Given the description of an element on the screen output the (x, y) to click on. 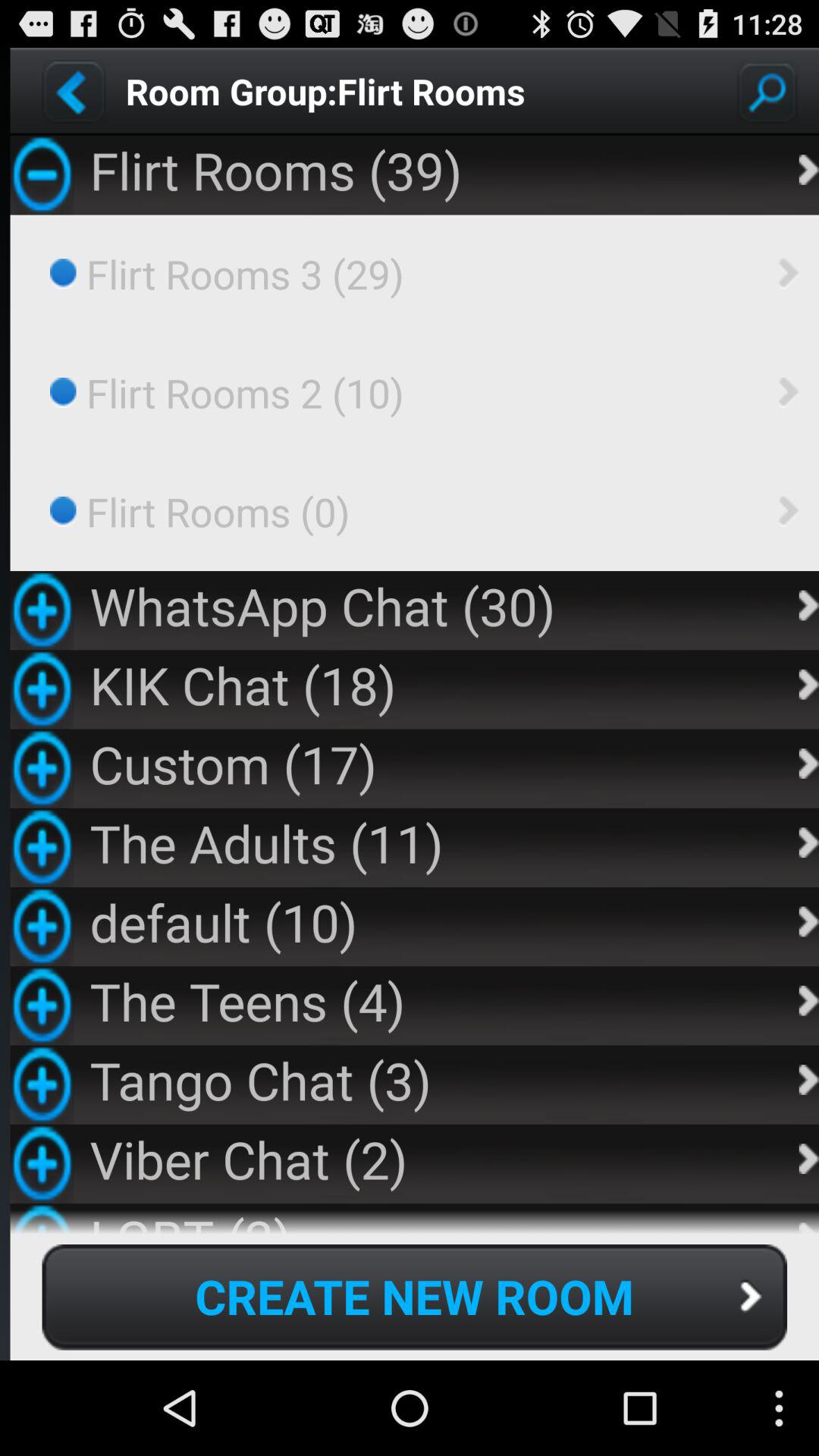
swipe to the create new room item (414, 1297)
